Given the description of an element on the screen output the (x, y) to click on. 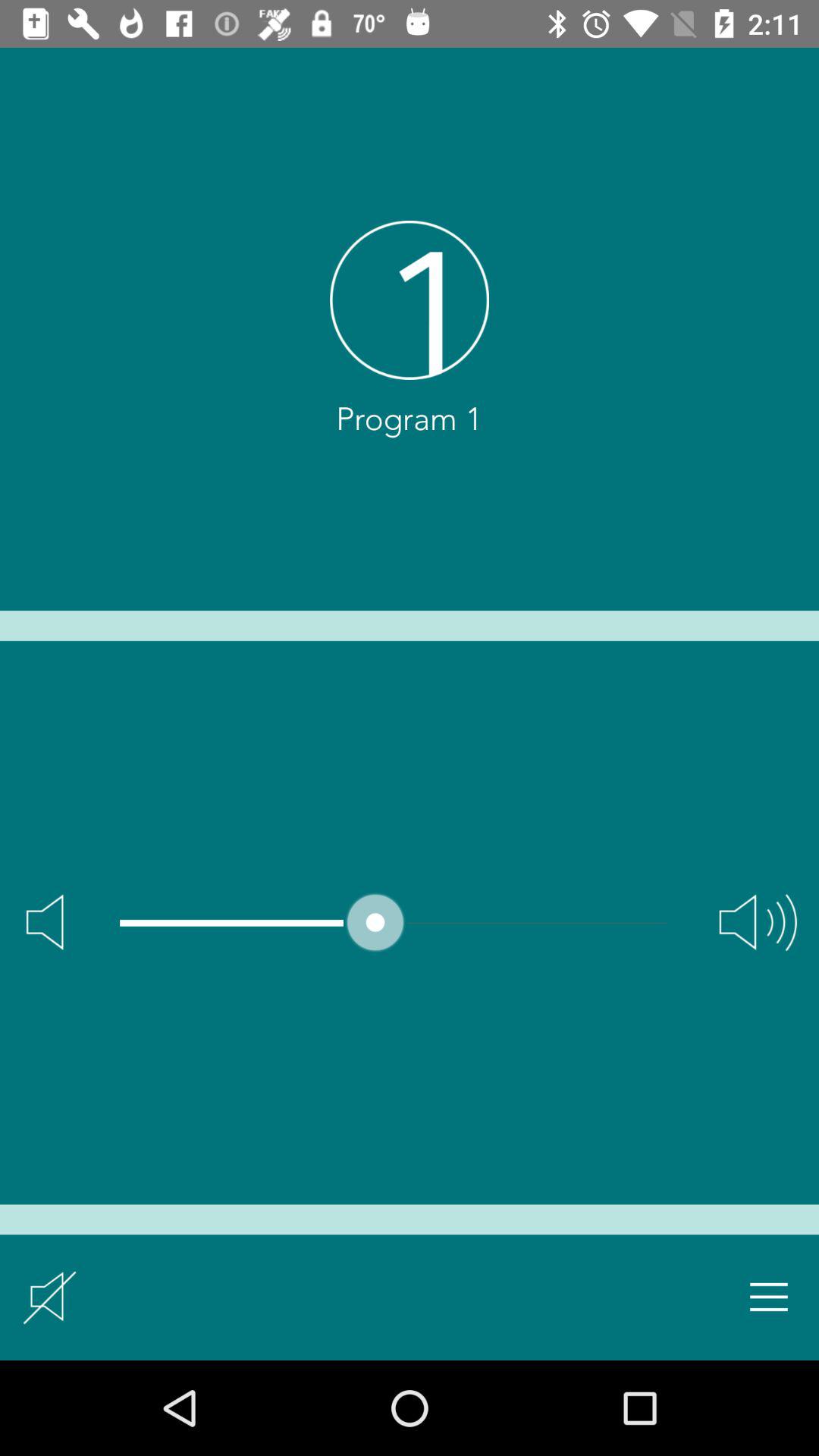
max volume (758, 922)
